Given the description of an element on the screen output the (x, y) to click on. 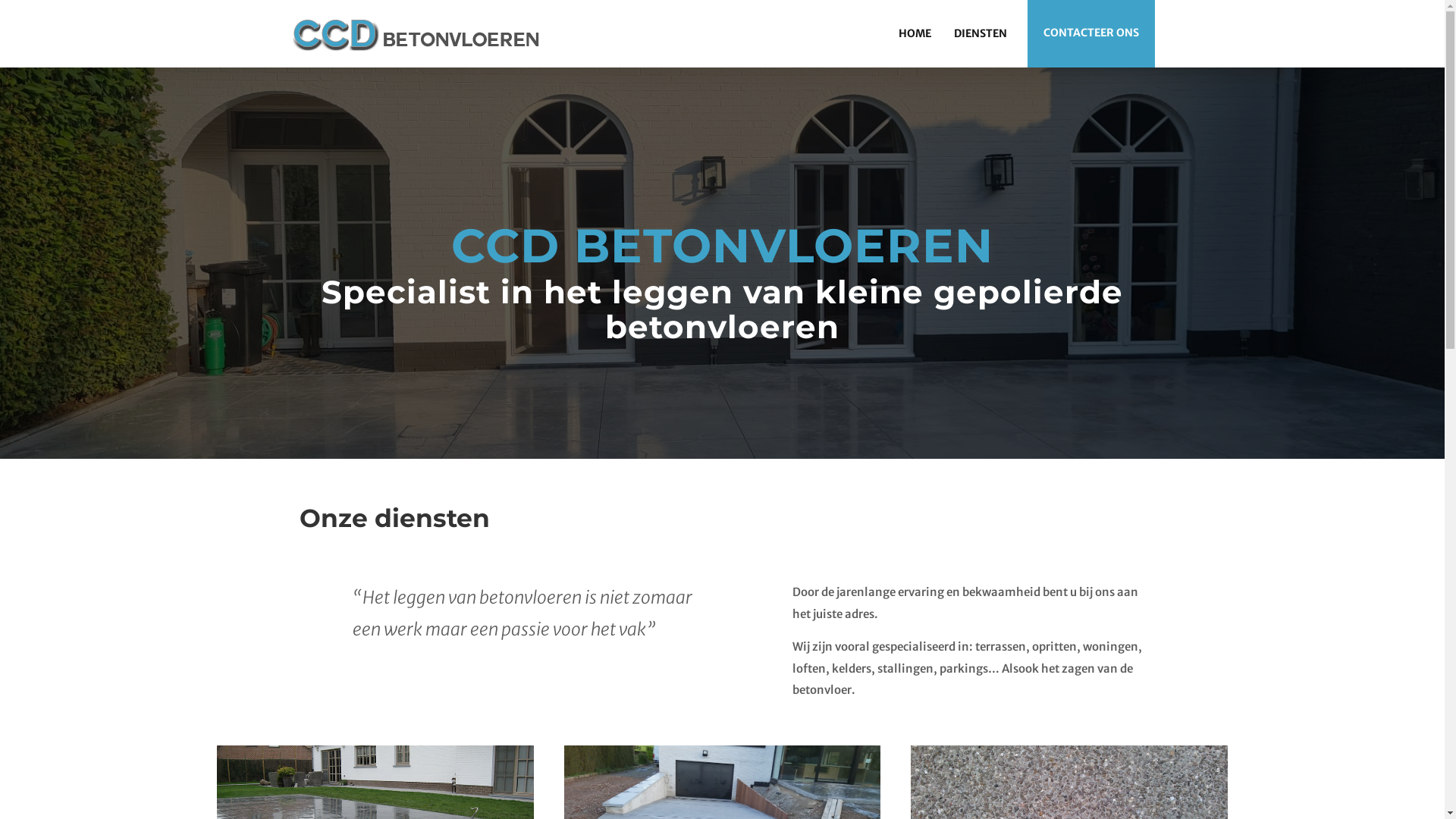
CONTACTEER ONS Element type: text (1090, 33)
HOME Element type: text (914, 33)
DIENSTEN Element type: text (979, 33)
